Given the description of an element on the screen output the (x, y) to click on. 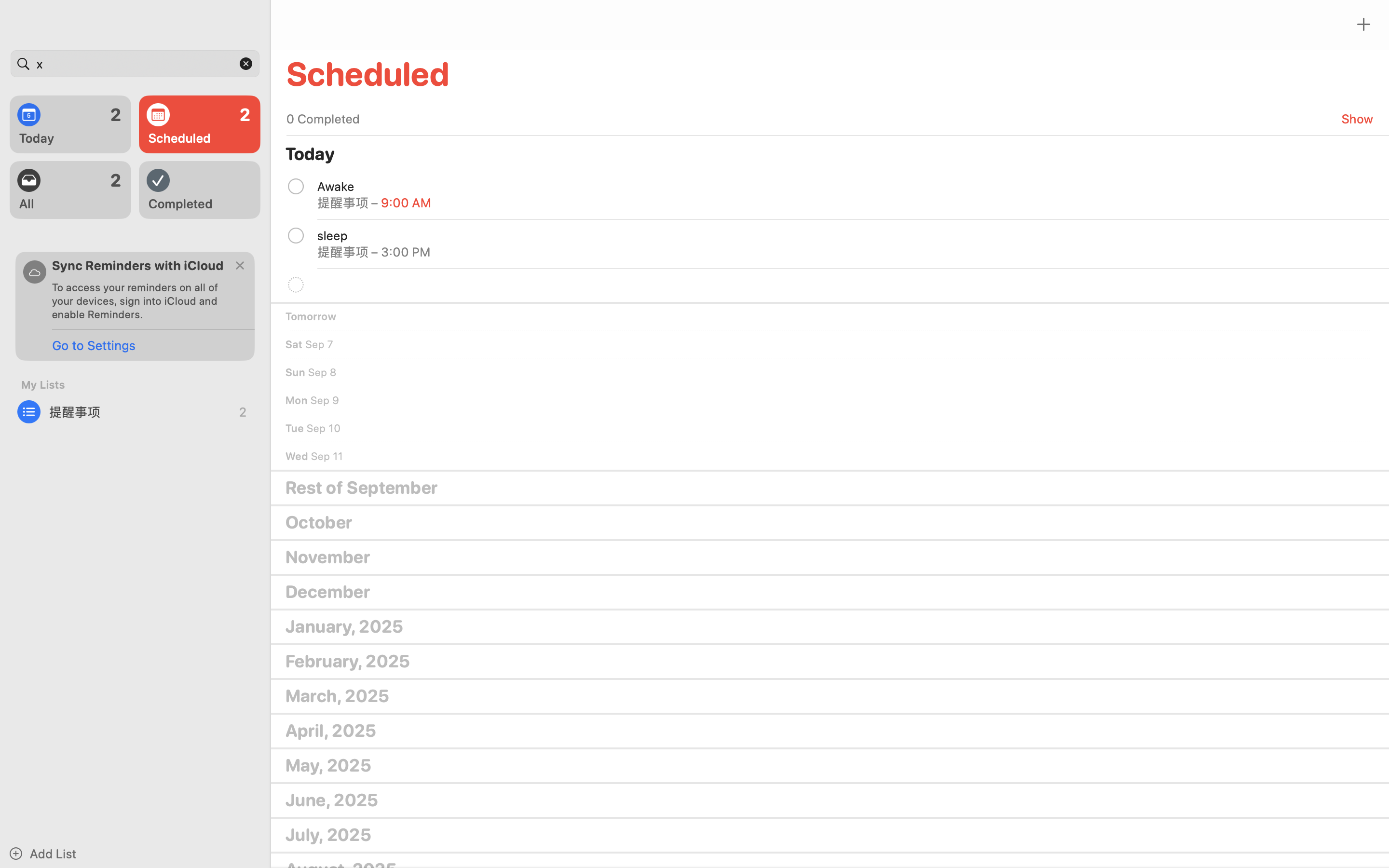
x Element type: AXTextField (134, 63)
0 Completed Element type: AXStaticText (322, 118)
To access your reminders on all of your devices, sign into iCloud and enable Reminders. Element type: AXStaticText (139, 300)
